Given the description of an element on the screen output the (x, y) to click on. 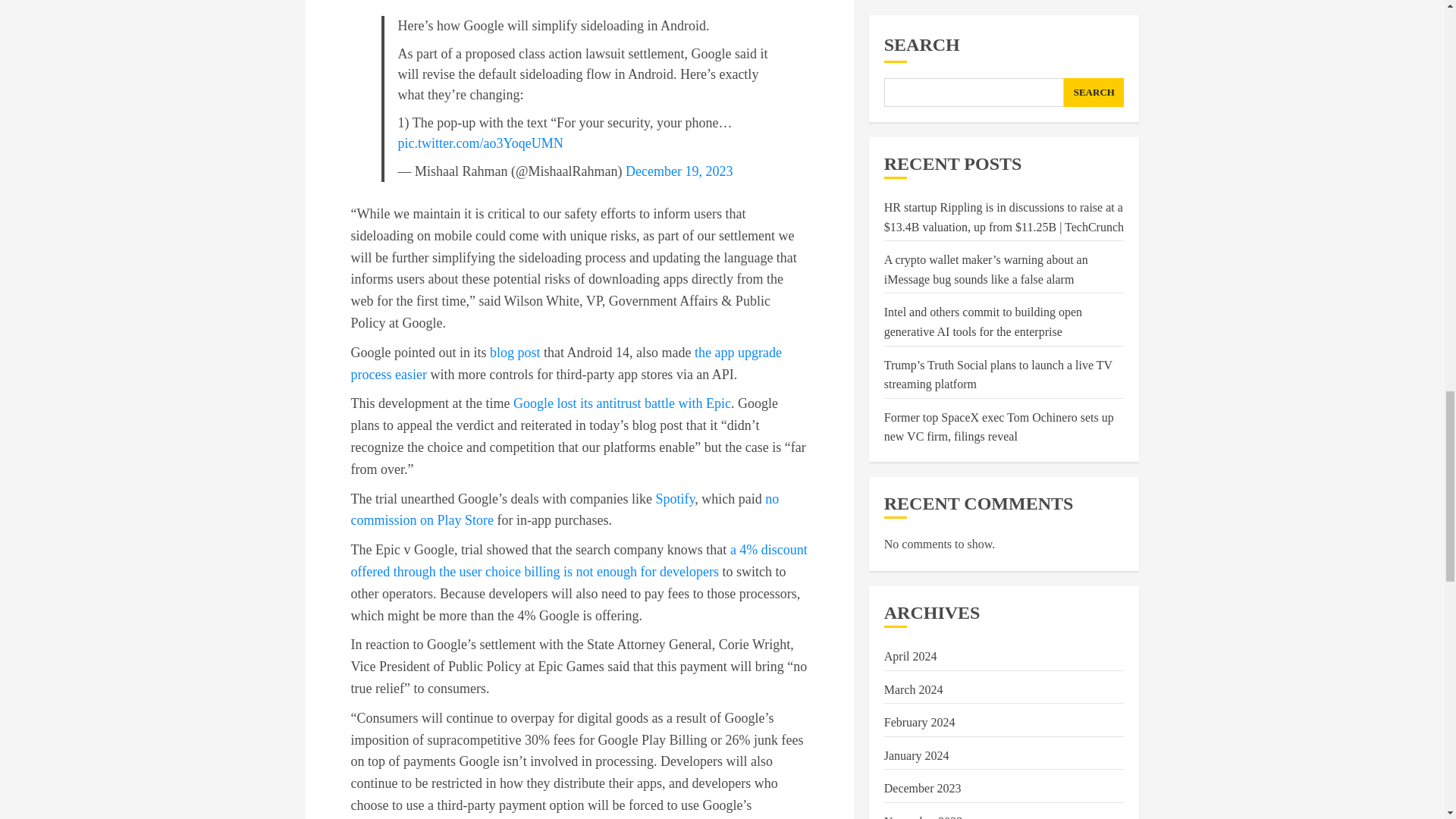
December 19, 2023 (679, 171)
the app upgrade process easier (565, 363)
no commission on Play Store (564, 509)
blog post (514, 352)
Google lost its antitrust battle with Epic (621, 403)
Spotify (674, 498)
